Given the description of an element on the screen output the (x, y) to click on. 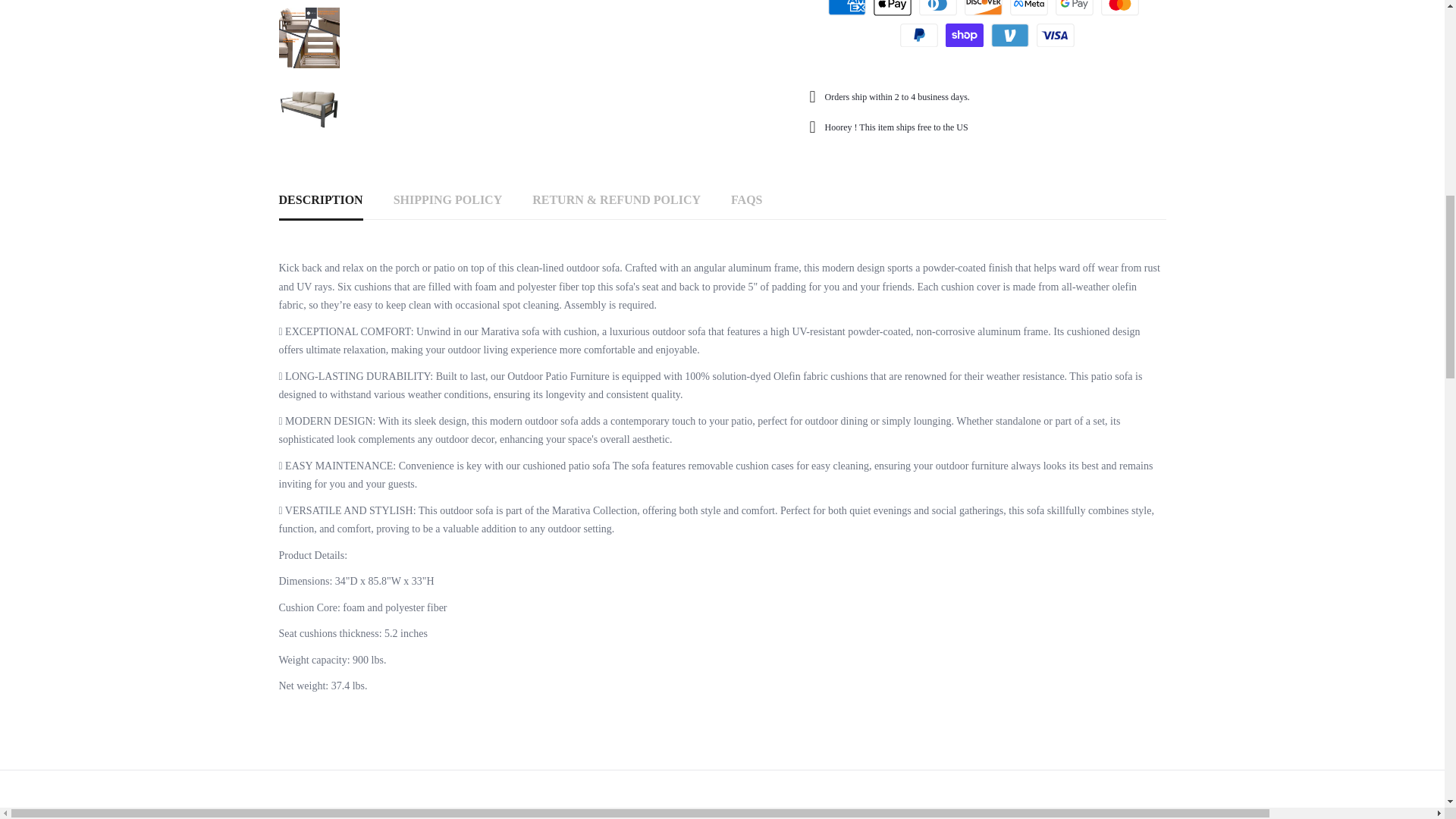
Mastercard (1119, 7)
Discover (983, 7)
PayPal (918, 35)
Meta Pay (1029, 7)
Apple Pay (892, 7)
Diners Club (937, 7)
Venmo (1010, 35)
American Express (847, 7)
Google Pay (1074, 7)
Visa (1055, 35)
Shop Pay (964, 35)
